Given the description of an element on the screen output the (x, y) to click on. 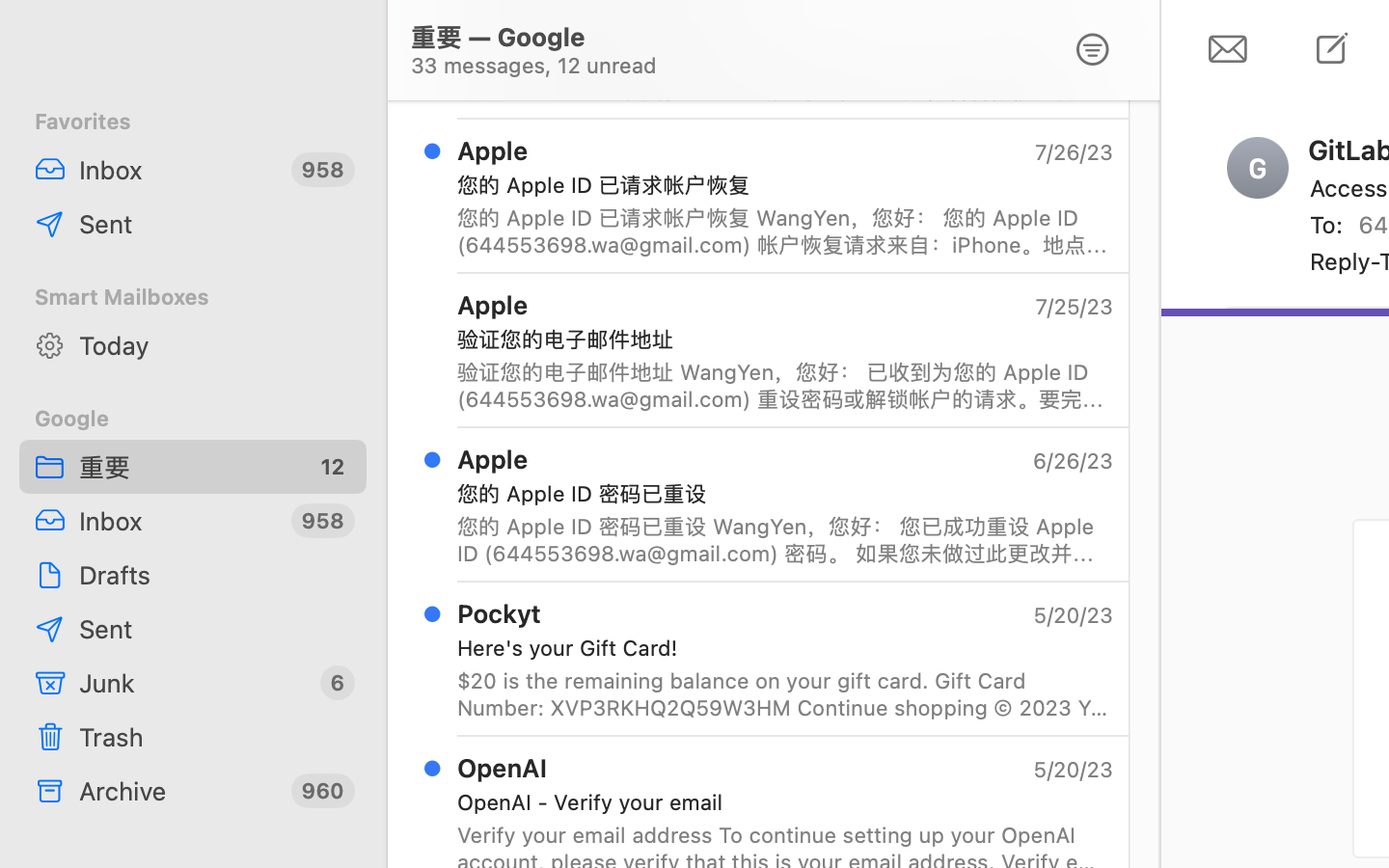
您的 Apple ID 密码已重设 WangYen，您好： 您已成功重设 Apple ID (644553698.wa@gmail.com) 密码。 如果您未做过此更改并认为有人未经授权访问了您的帐户，您应立即前往 iforgot.apple.com 重设您的密码。然后登录 Apple ID 帐户页面 https://appleid.apple.com，查看并更新您的安全设置。 如需更多帮助，请联系 Apple 支持。 此致 Apple 支持 Apple ID | 支持 | 隐私政策 Copyright © 2023 One Apple Park Way, Cupertino, CA 95014, United States‎ 保留所有权利。 Element type: AXStaticText (784, 540)
Google Element type: AXStaticText (192, 418)
$20 is the remaining balance on your gift card. Gift Card Number: XVP3RKHQ2Q59W3HM Continue shopping © 2023 Yuansfer, 28 Liberty St 6th Floor, New York, NY United States 10005 Element type: AXStaticText (784, 694)
5/20/23 Element type: AXStaticText (1071, 769)
Sent Element type: AXStaticText (214, 223)
